Given the description of an element on the screen output the (x, y) to click on. 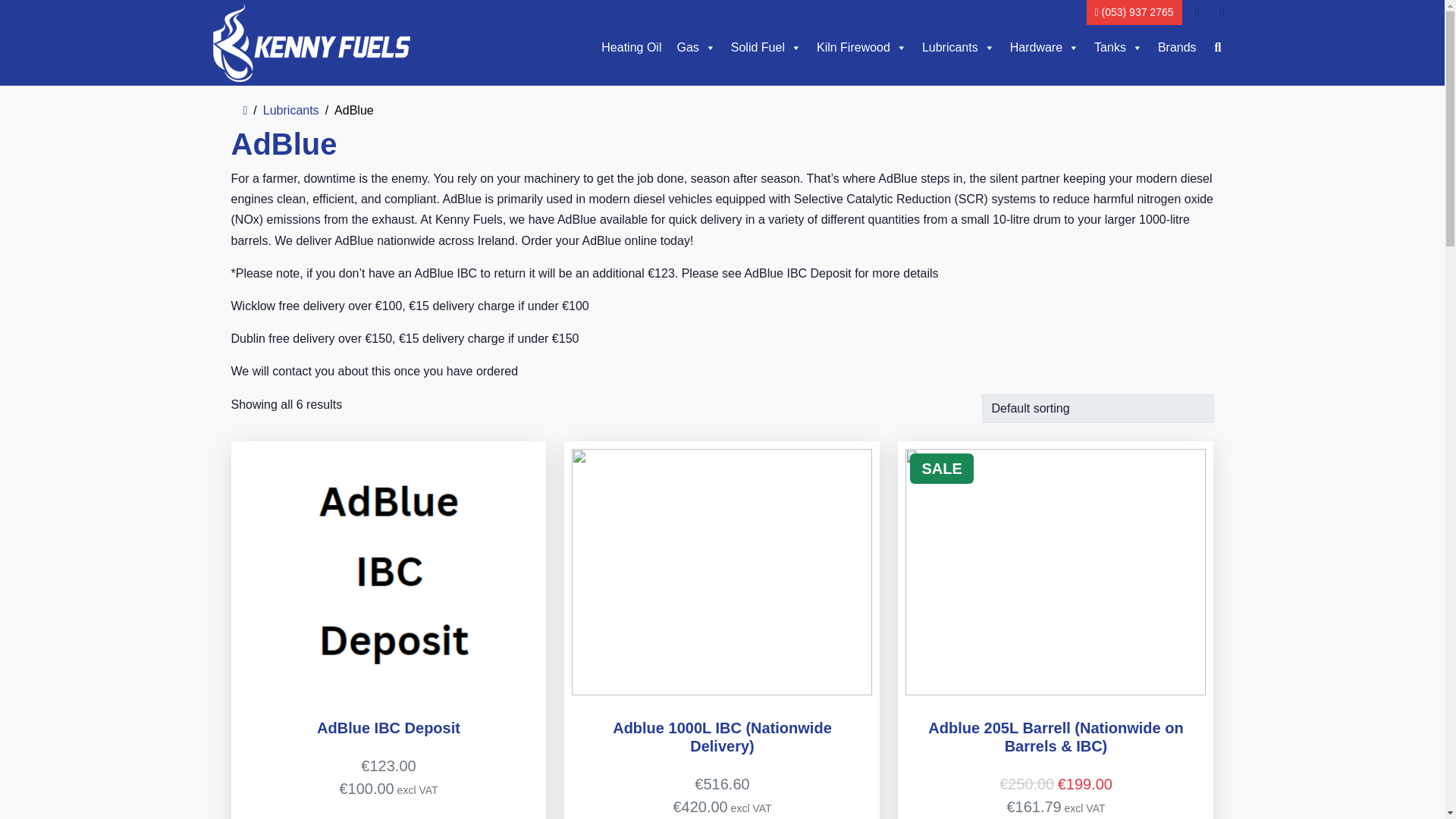
CART (1221, 12)
ACCOUNT (1197, 12)
Heating Oil (631, 47)
Solid Fuel (766, 47)
Gas (695, 47)
Kiln Firewood (861, 47)
